Given the description of an element on the screen output the (x, y) to click on. 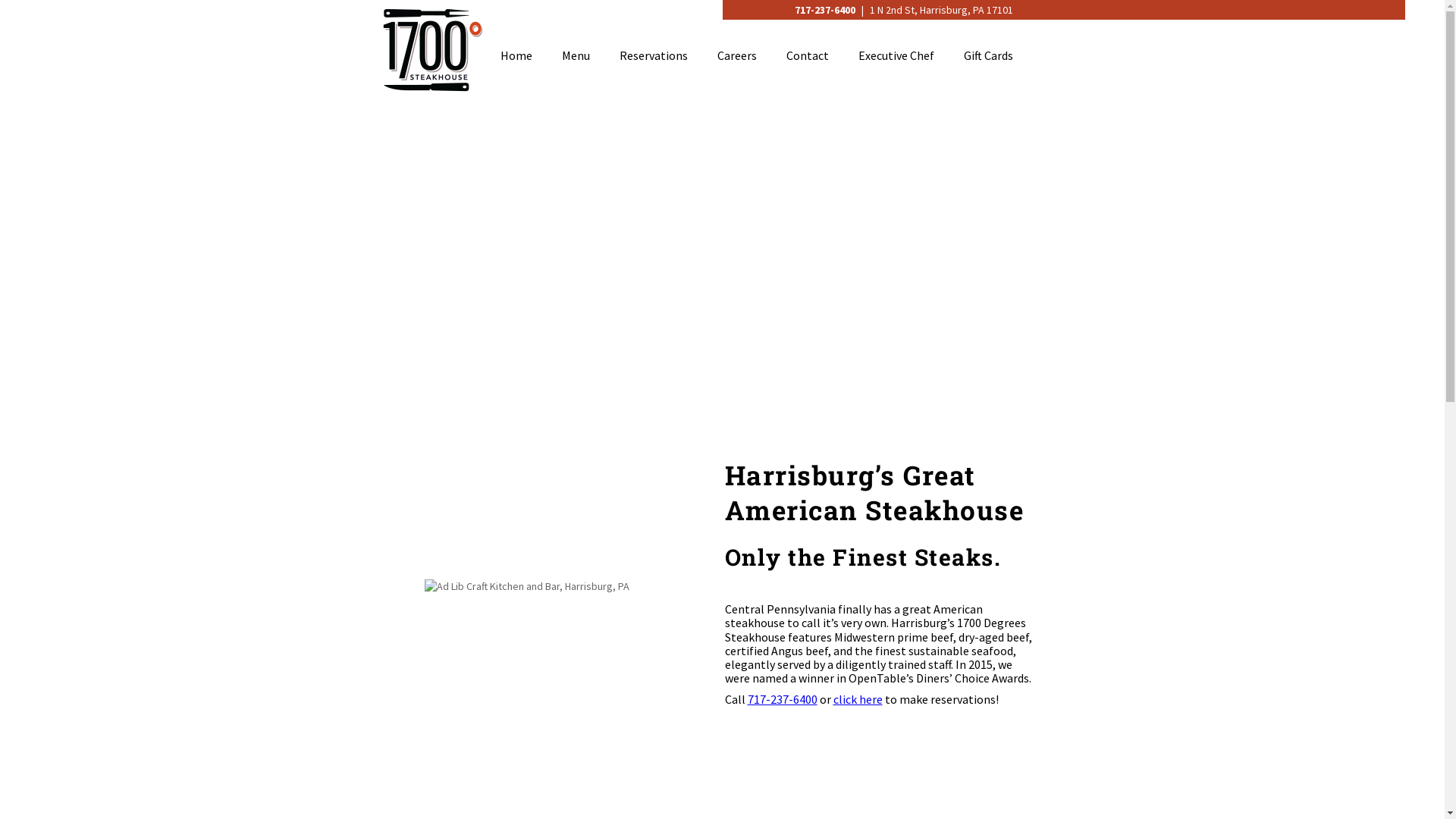
717-237-6400 Element type: text (826, 9)
Executive Chef Element type: text (895, 55)
717-237-6400 Element type: text (782, 698)
Gift Cards Element type: text (987, 55)
Reservations Element type: text (652, 55)
Contact Element type: text (806, 55)
click here Element type: text (856, 698)
1 N 2nd St, Harrisburg, PA 17101 Element type: text (941, 9)
Home Element type: text (516, 55)
Careers Element type: text (736, 55)
Menu Element type: text (574, 55)
